Given the description of an element on the screen output the (x, y) to click on. 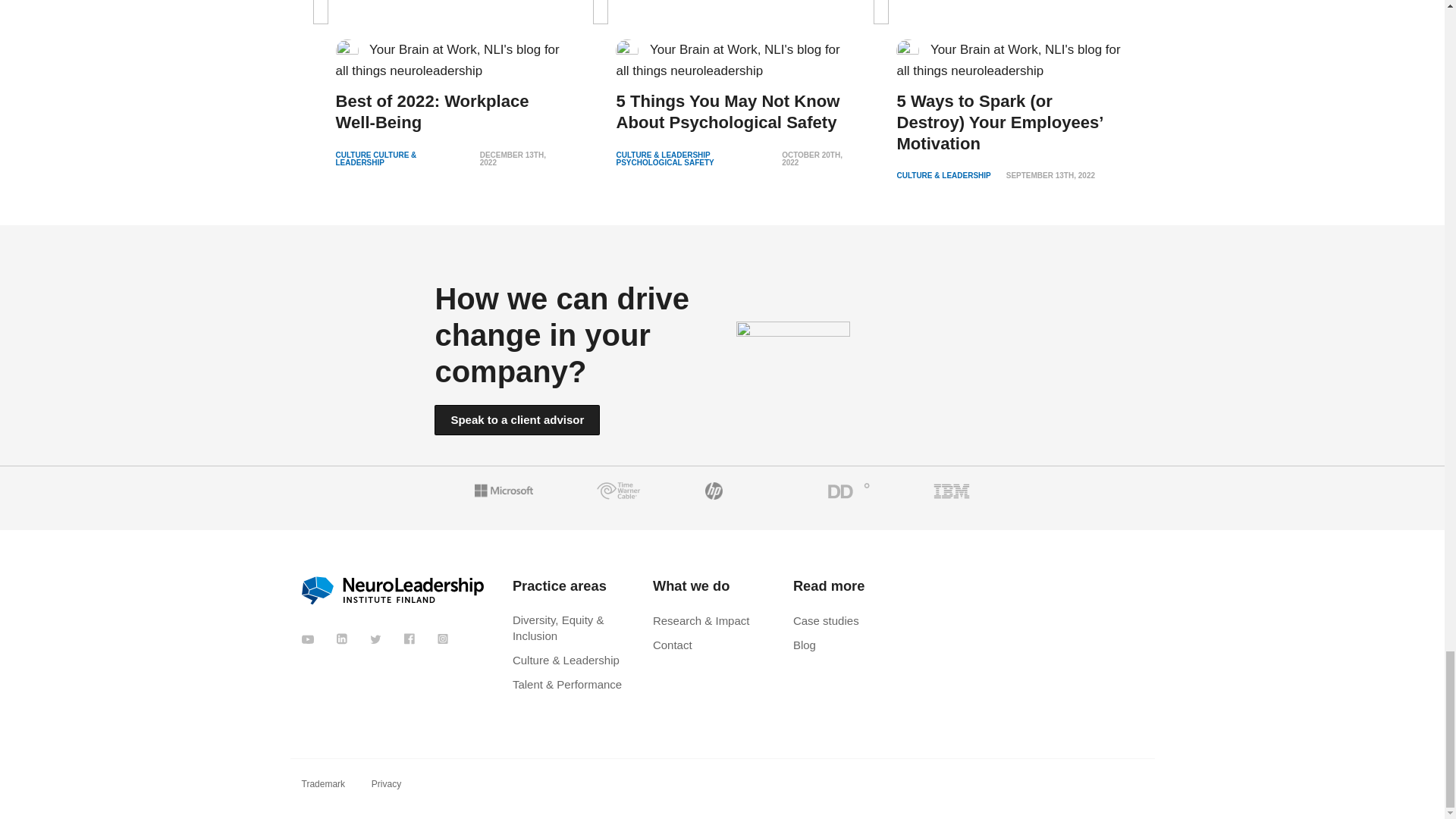
Speak to a client advisor (516, 419)
